Given the description of an element on the screen output the (x, y) to click on. 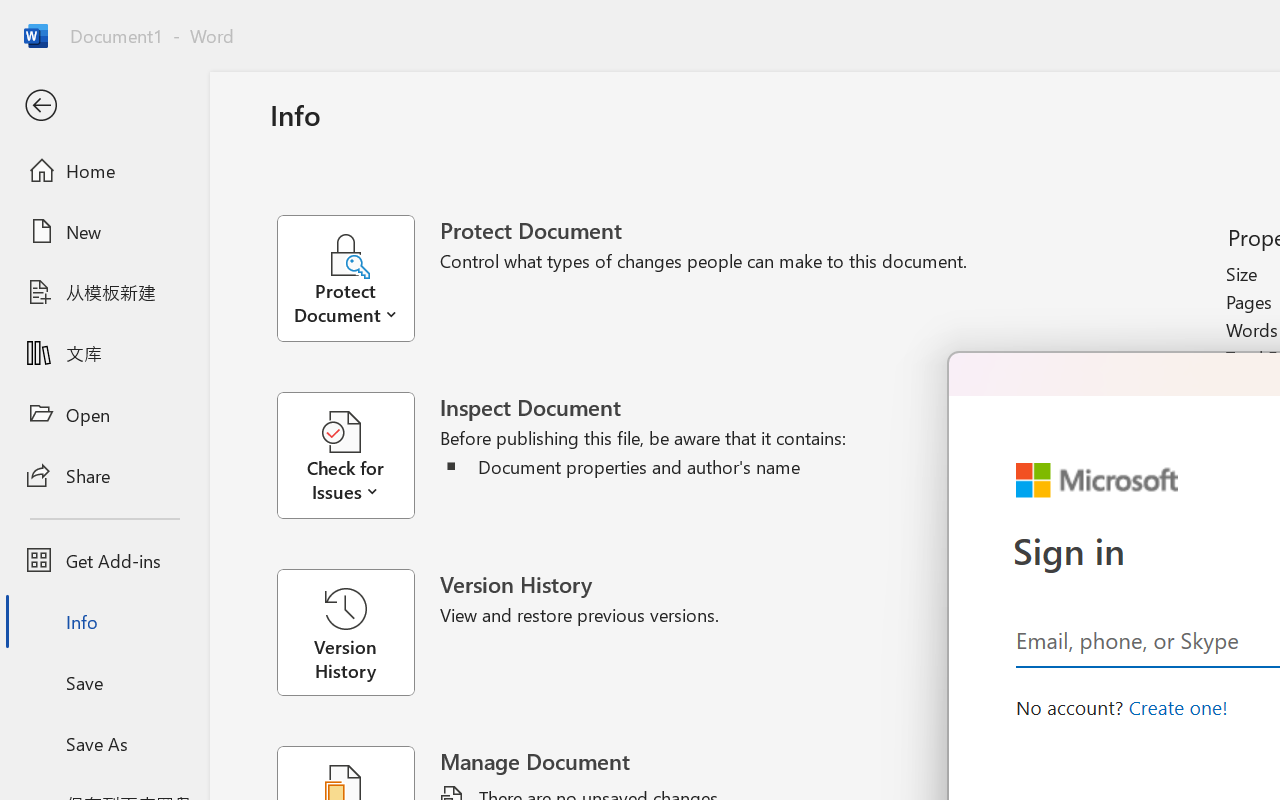
Get Add-ins (104, 560)
